Given the description of an element on the screen output the (x, y) to click on. 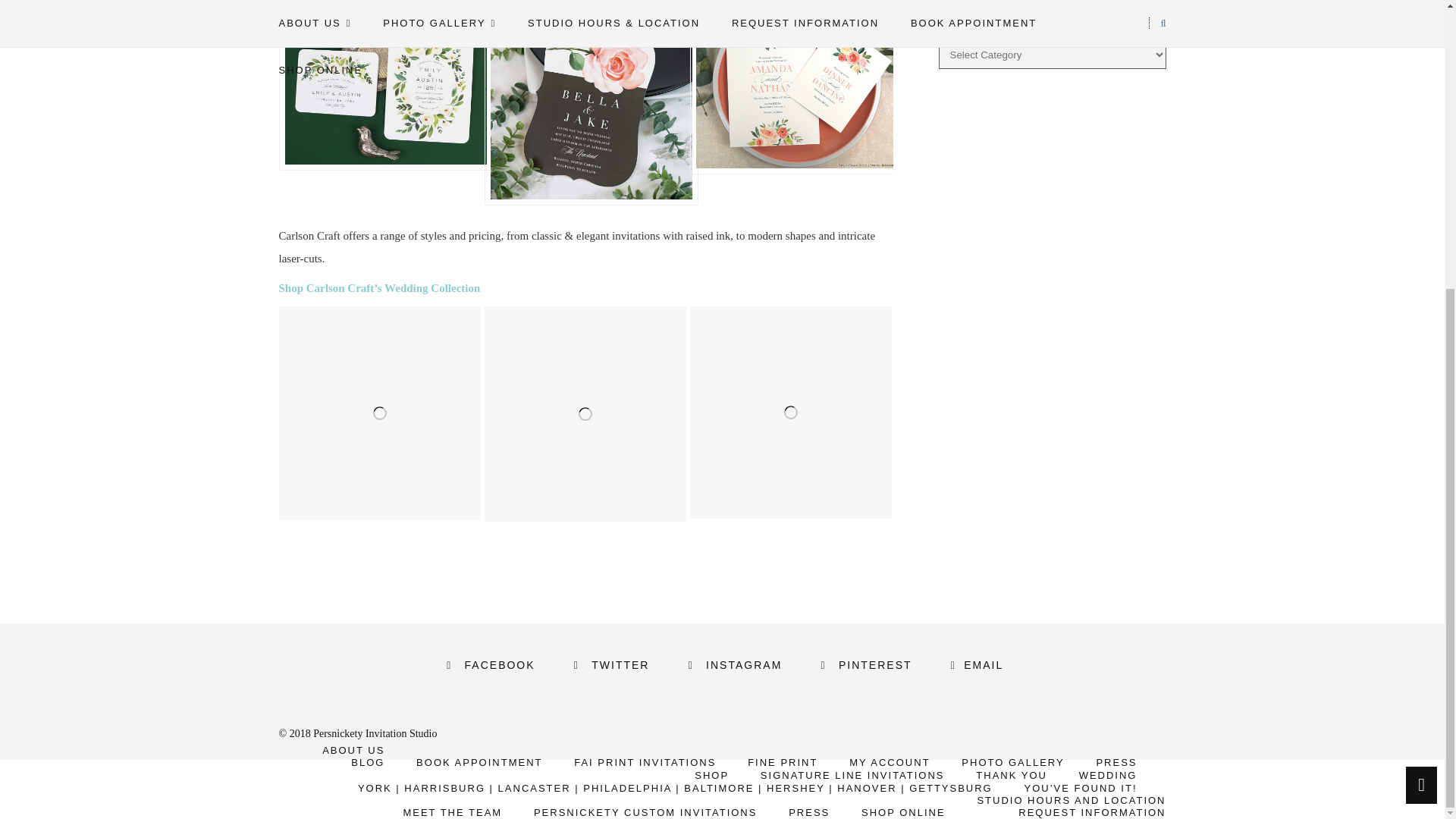
PINTEREST (863, 664)
BOOK APPOINTMENT (478, 762)
SCB-Wedding-2019-13 (379, 85)
TWITTER (608, 664)
EMAIL (973, 664)
ABOUT US (352, 749)
INSTAGRAM (731, 664)
SCB-Wedding-2020-01 (790, 87)
BLOG (367, 762)
MP-2019-19 (584, 102)
